Given the description of an element on the screen output the (x, y) to click on. 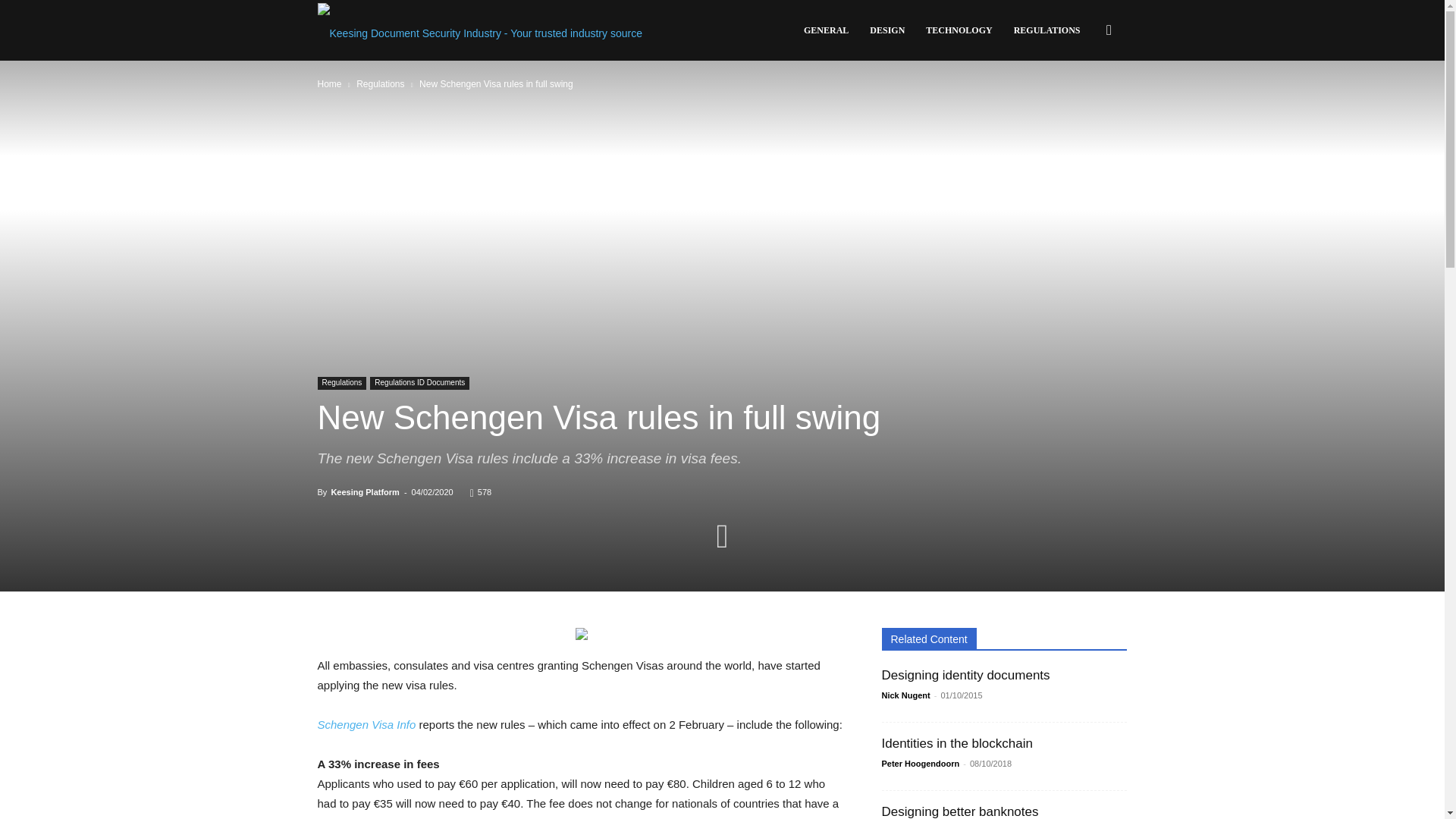
REGULATIONS (1046, 30)
Keesing Platform (479, 30)
Schengen Visa Info (365, 724)
GENERAL (826, 30)
Regulations (380, 83)
TECHNOLOGY (959, 30)
Regulations ID Documents (418, 382)
Keesing Platform (364, 491)
View all posts in Regulations (380, 83)
